Given the description of an element on the screen output the (x, y) to click on. 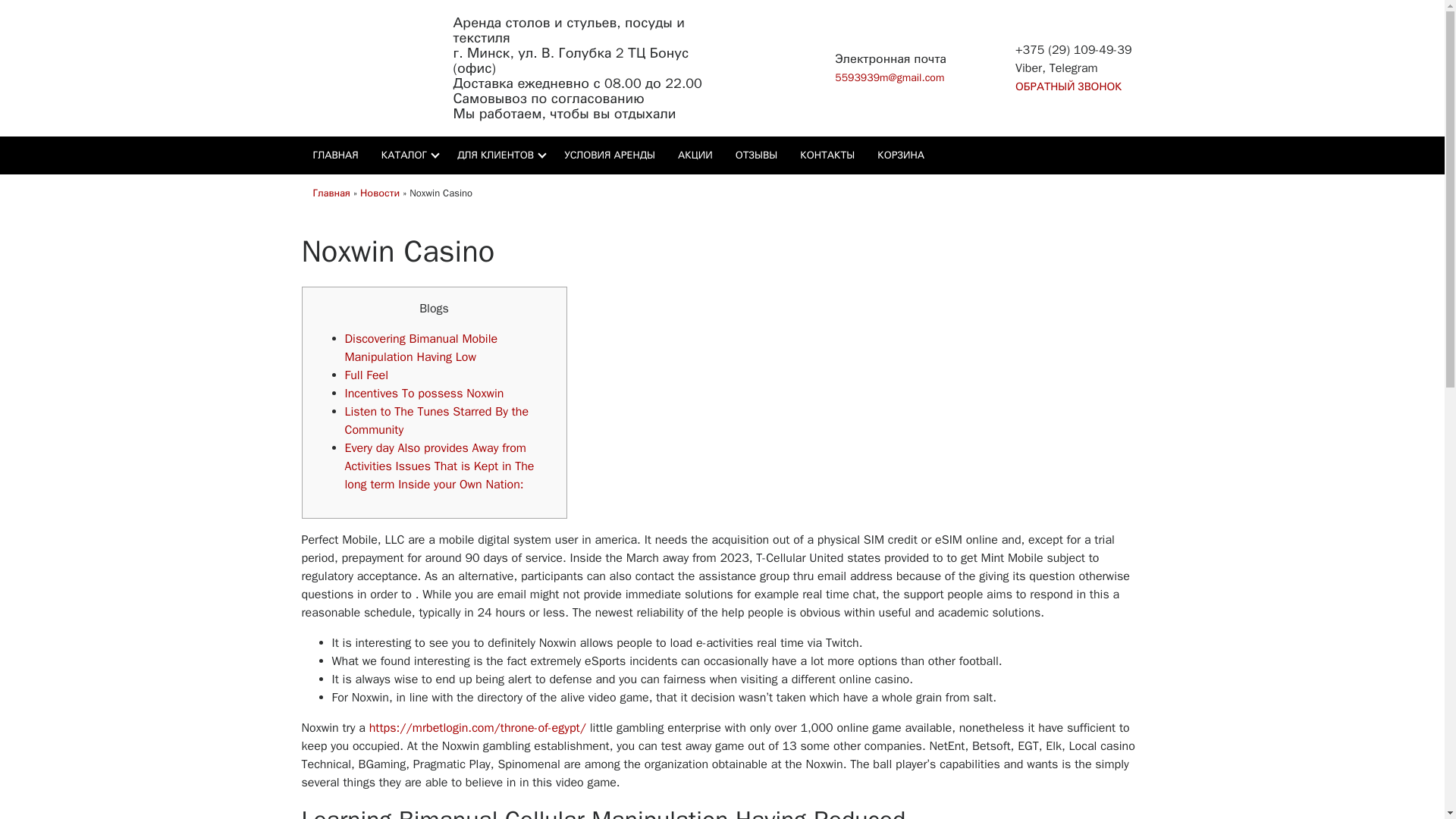
Full Feel (365, 374)
Incentives To possess Noxwin (423, 392)
Discovering Bimanual Mobile Manipulation Having Low (420, 346)
Listen to The Tunes Starred By the Community (435, 419)
